Given the description of an element on the screen output the (x, y) to click on. 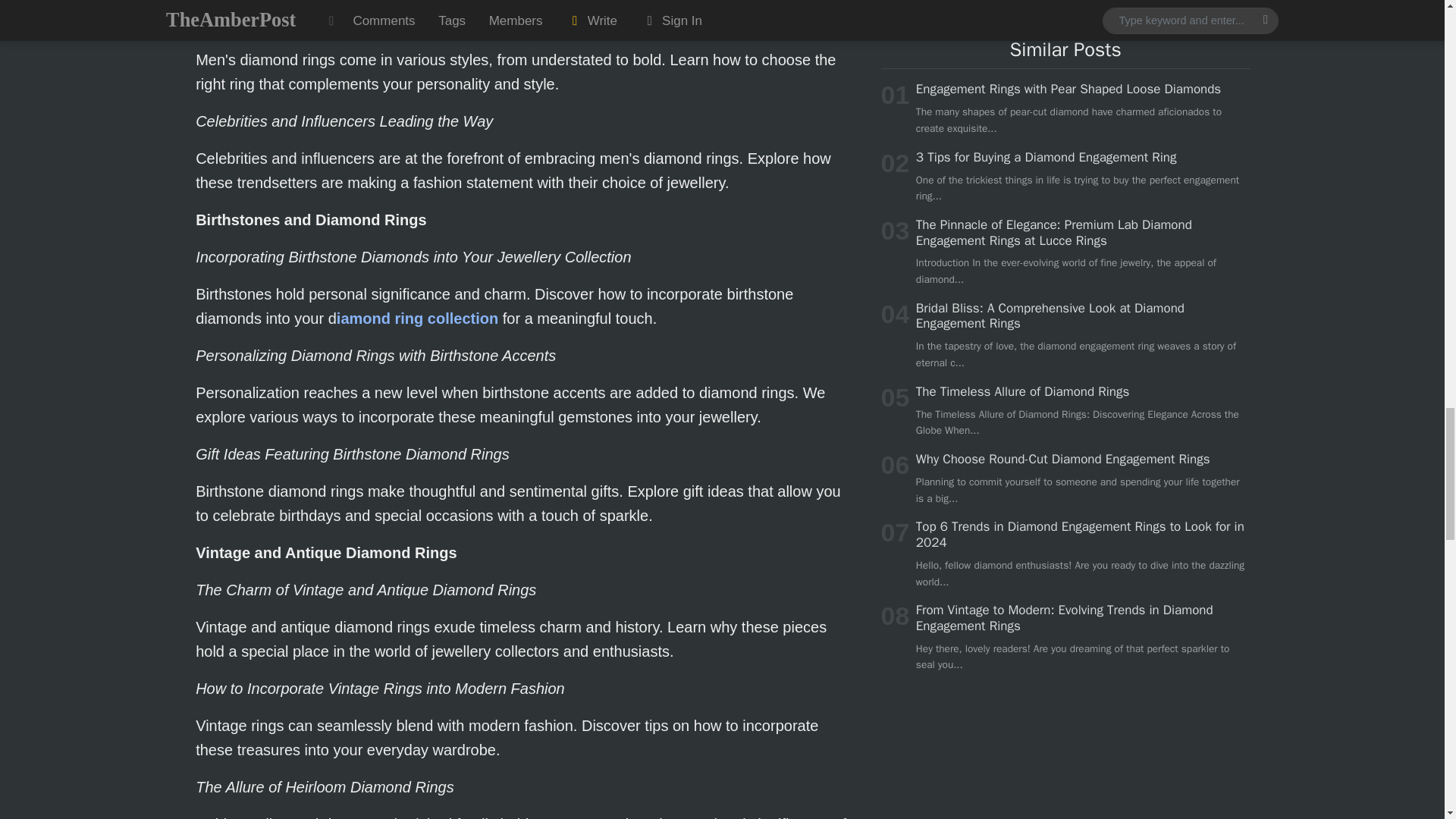
iamond ring collection (416, 318)
